Given the description of an element on the screen output the (x, y) to click on. 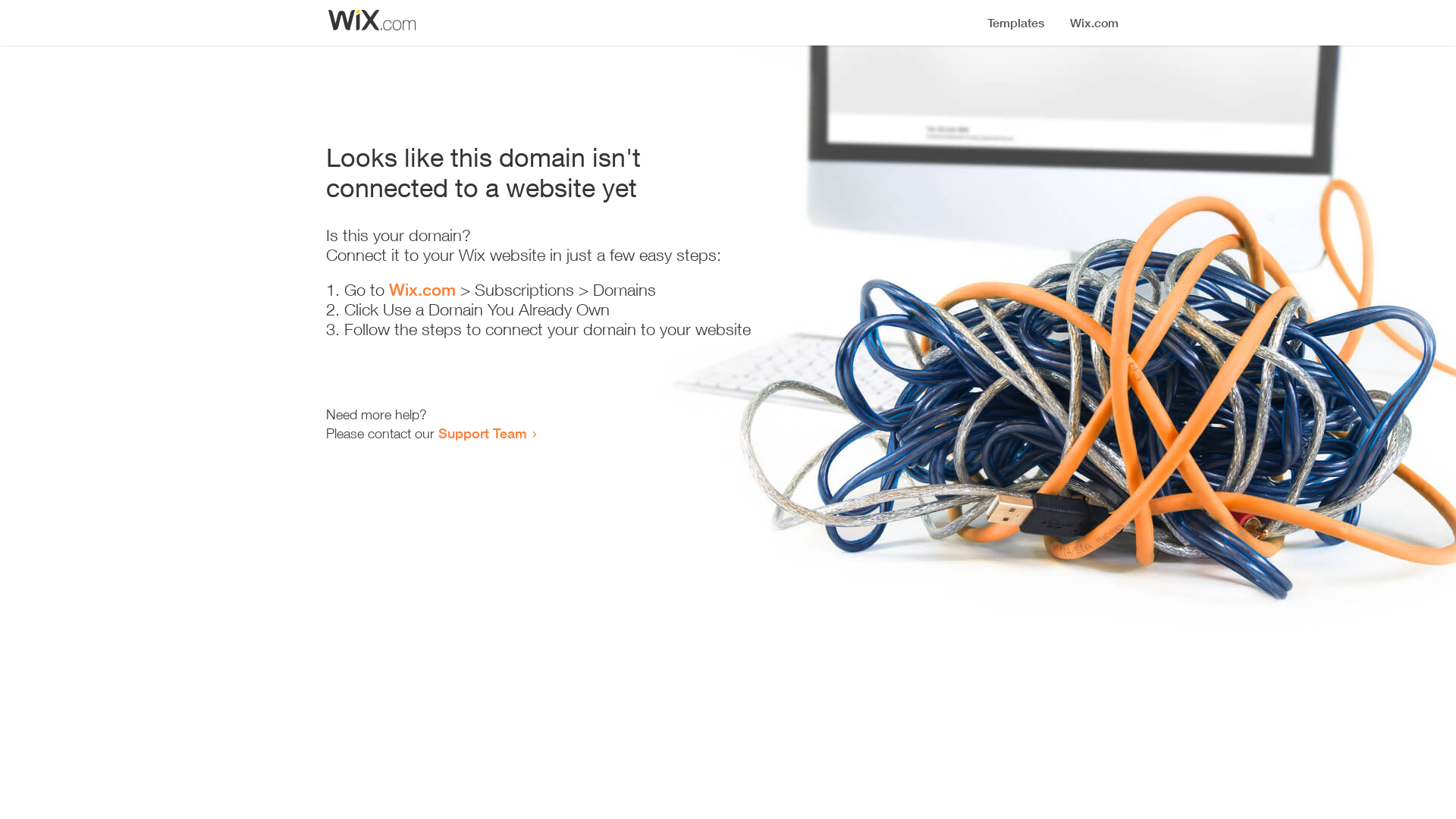
Wix.com Element type: text (422, 289)
Support Team Element type: text (482, 432)
